Given the description of an element on the screen output the (x, y) to click on. 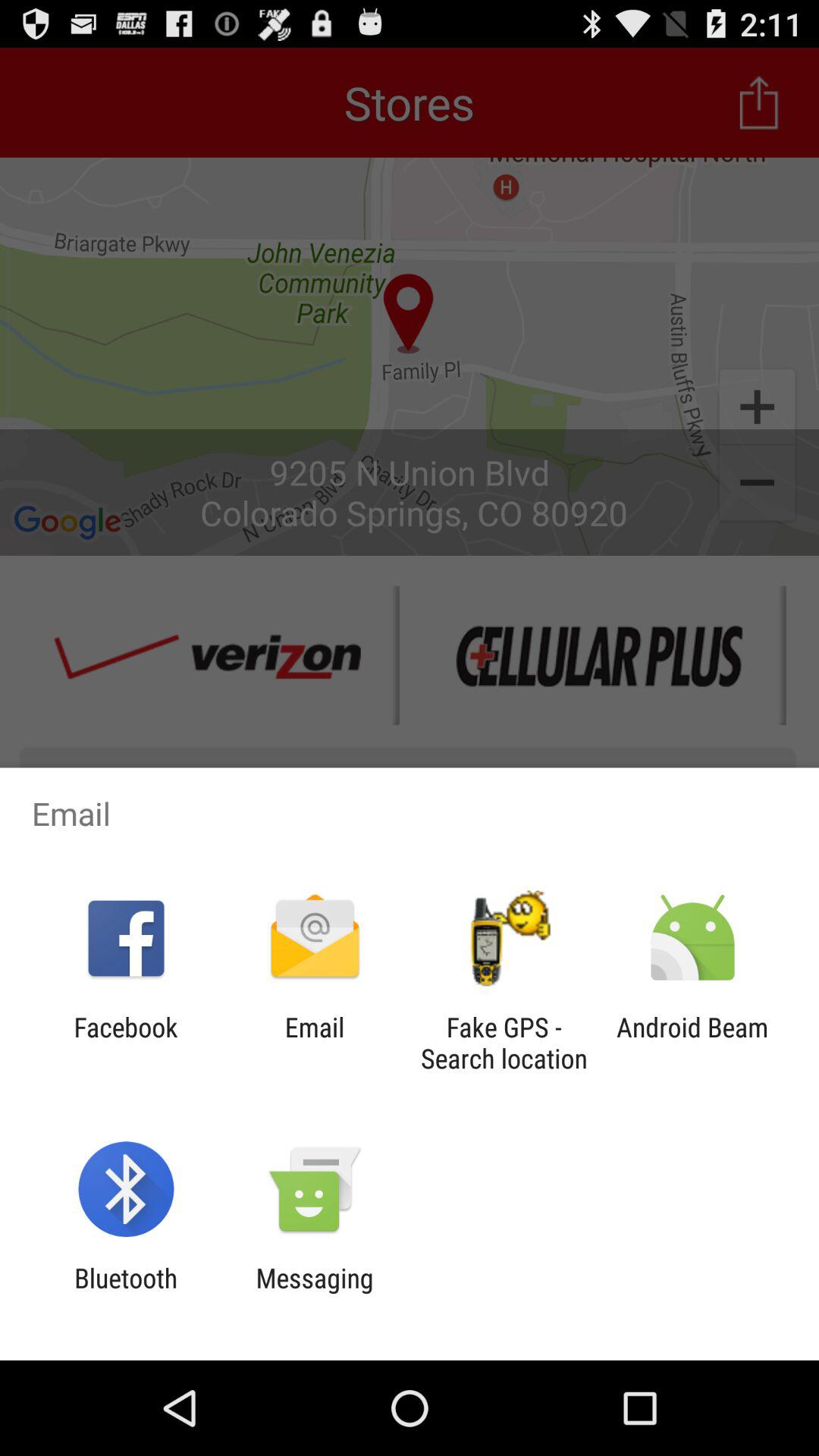
select fake gps search (503, 1042)
